Given the description of an element on the screen output the (x, y) to click on. 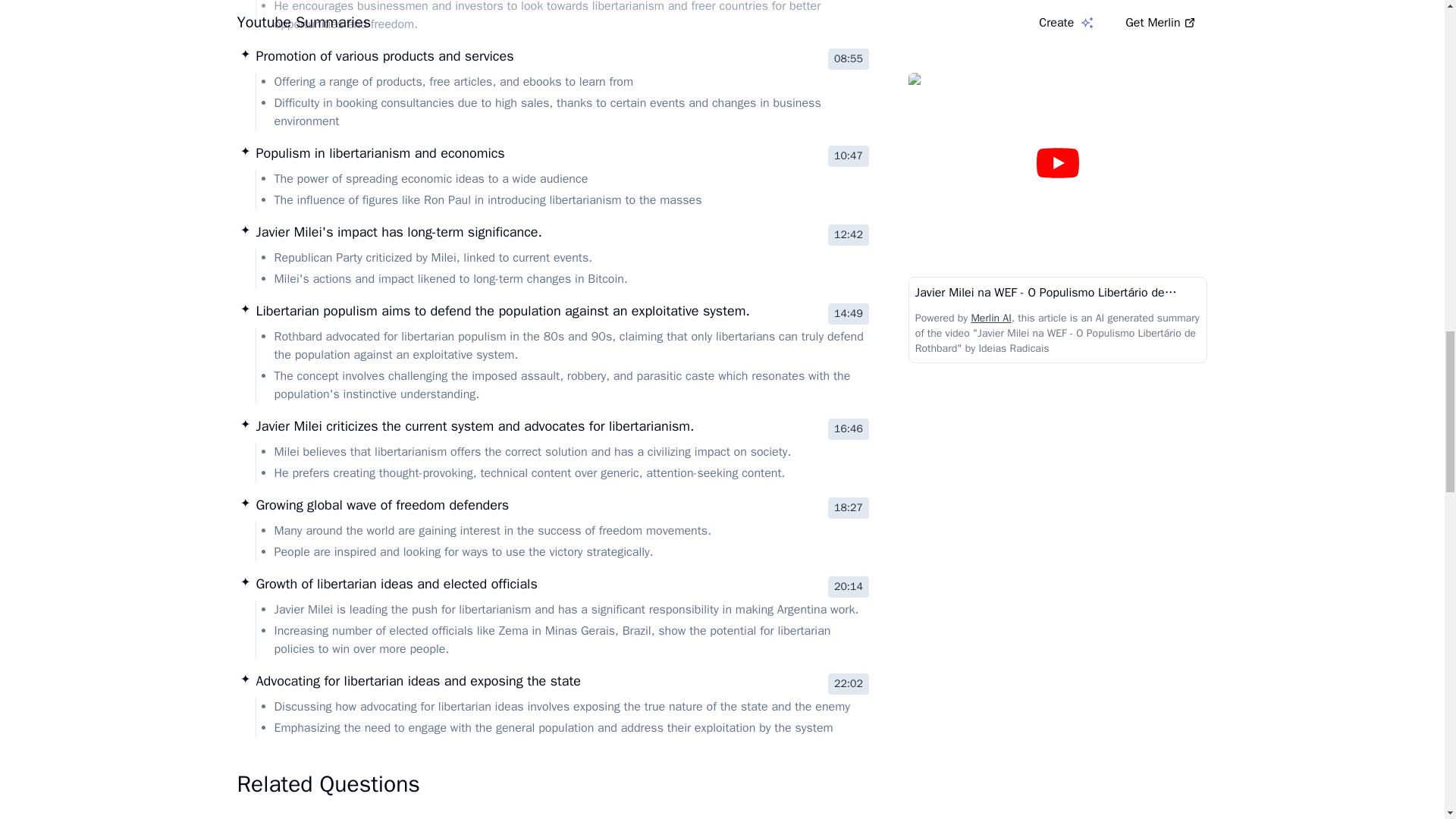
20:14 (848, 586)
10:47 (848, 156)
18:27 (848, 507)
08:55 (848, 58)
22:02 (848, 683)
16:46 (848, 428)
14:49 (848, 313)
12:42 (848, 234)
